Given the description of an element on the screen output the (x, y) to click on. 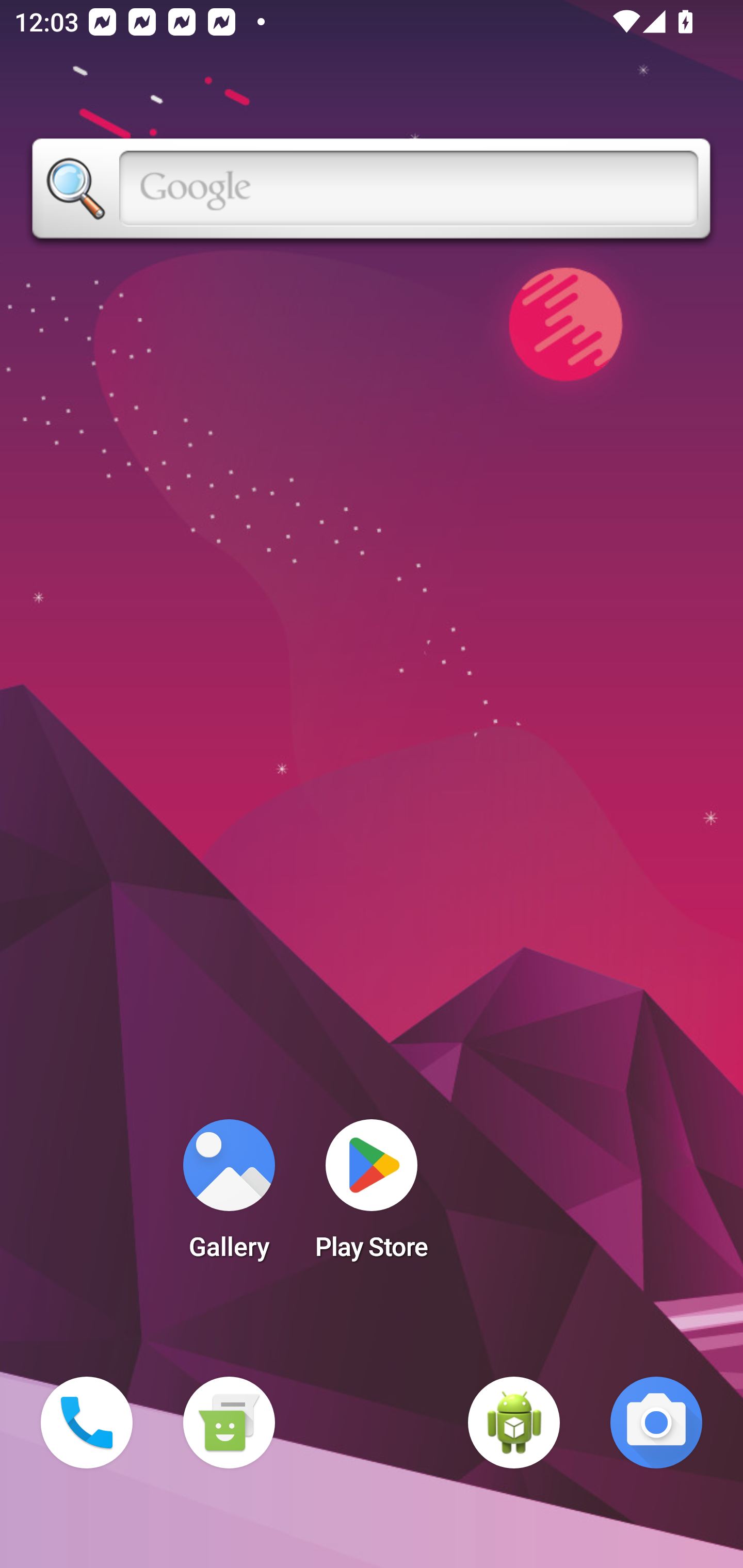
Gallery (228, 1195)
Play Store (371, 1195)
Phone (86, 1422)
Messaging (228, 1422)
WebView Browser Tester (513, 1422)
Camera (656, 1422)
